Given the description of an element on the screen output the (x, y) to click on. 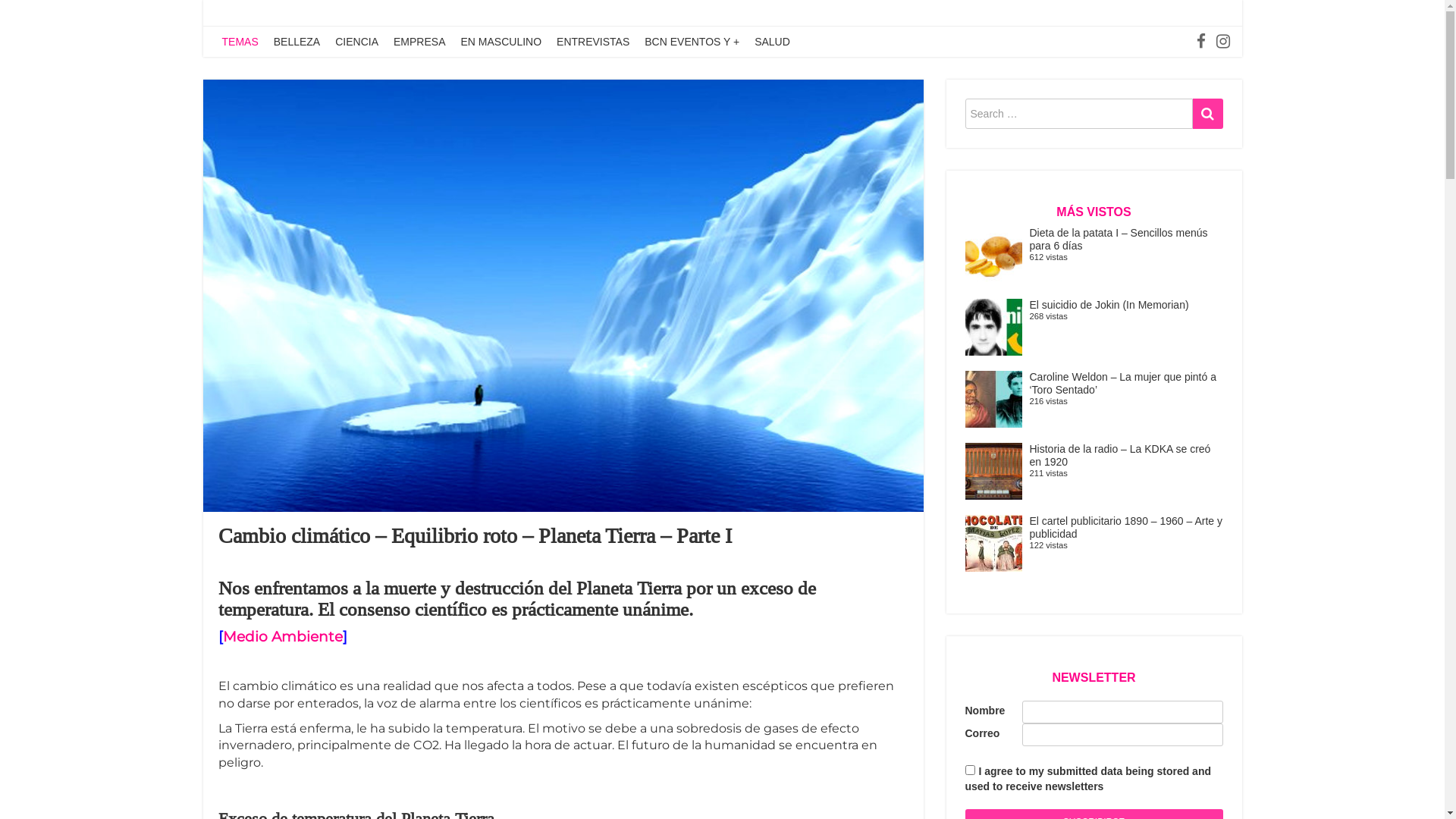
SALUD Element type: text (772, 41)
ENTREVISTAS Element type: text (592, 41)
El suicidio de Jokin (In Memorian) Element type: text (1109, 304)
TEMAS Element type: text (239, 41)
EN MASCULINO Element type: text (500, 41)
Medio Ambiente Element type: text (282, 636)
CIENCIA Element type: text (356, 41)
BCN EVENTOS Y + Element type: text (691, 41)
BELLEZA Element type: text (296, 41)
EMPRESA Element type: text (419, 41)
